Given the description of an element on the screen output the (x, y) to click on. 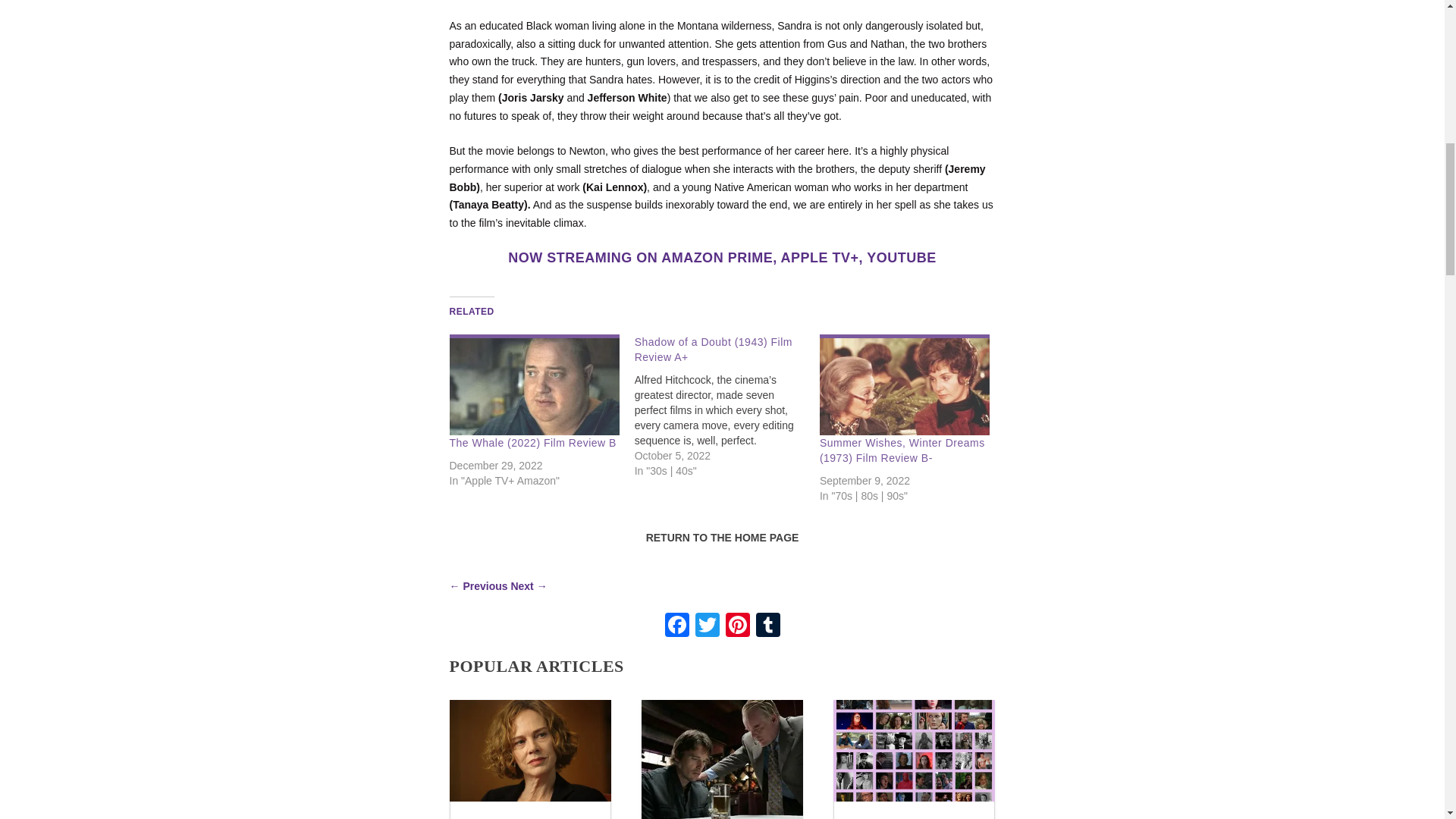
Twitter (706, 626)
Tumblr (767, 626)
Pinterest (737, 626)
Facebook (676, 626)
